Given the description of an element on the screen output the (x, y) to click on. 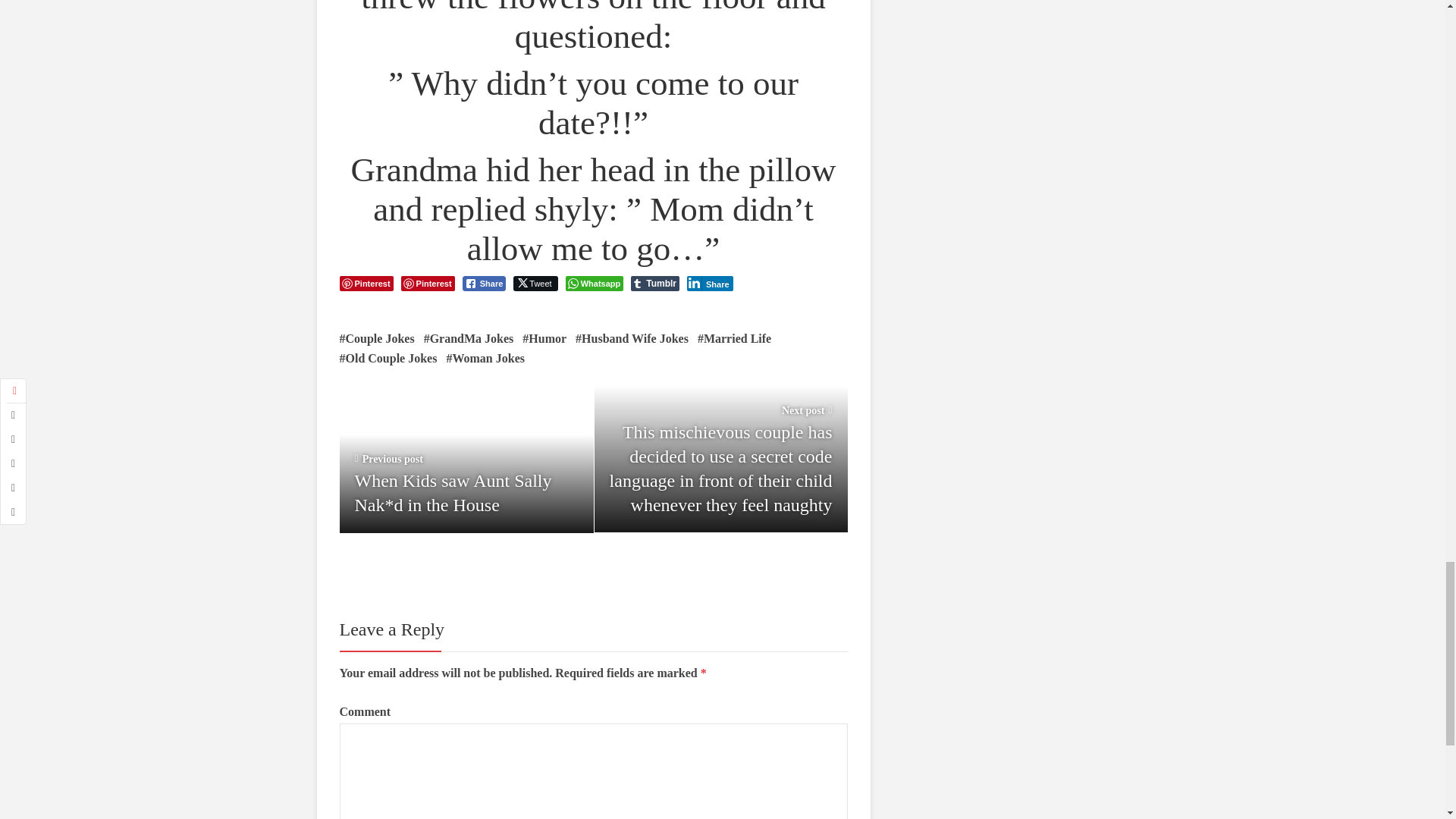
GrandMa Jokes (468, 338)
Married Life (734, 338)
Tweet (535, 283)
Pinterest (427, 283)
Couple Jokes (376, 338)
Husband Wife Jokes (631, 338)
Tumblr (654, 283)
Humor (544, 338)
Woman Jokes (484, 358)
